Given the description of an element on the screen output the (x, y) to click on. 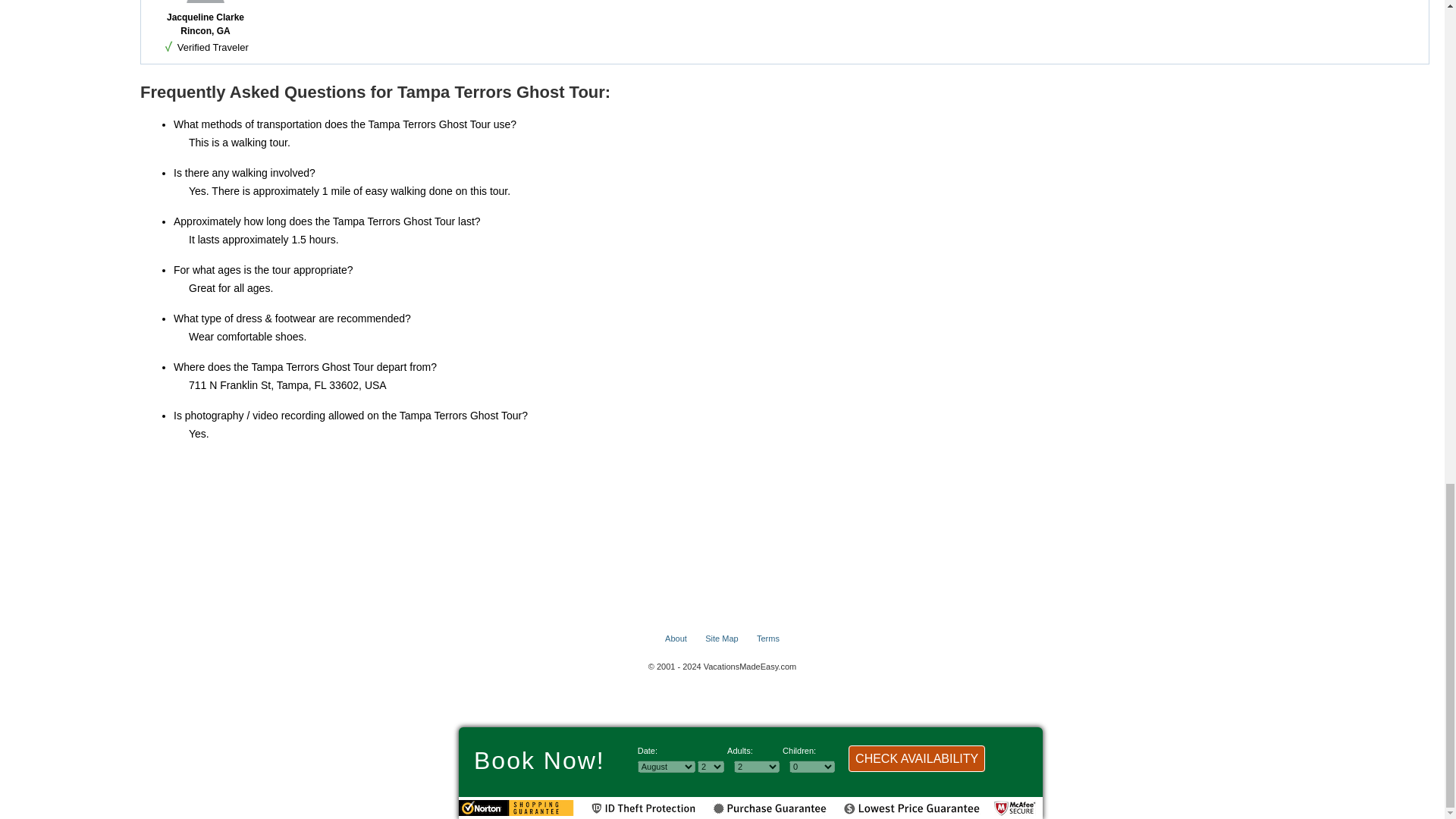
Site Map (721, 637)
Terms (767, 637)
About (676, 637)
